Given the description of an element on the screen output the (x, y) to click on. 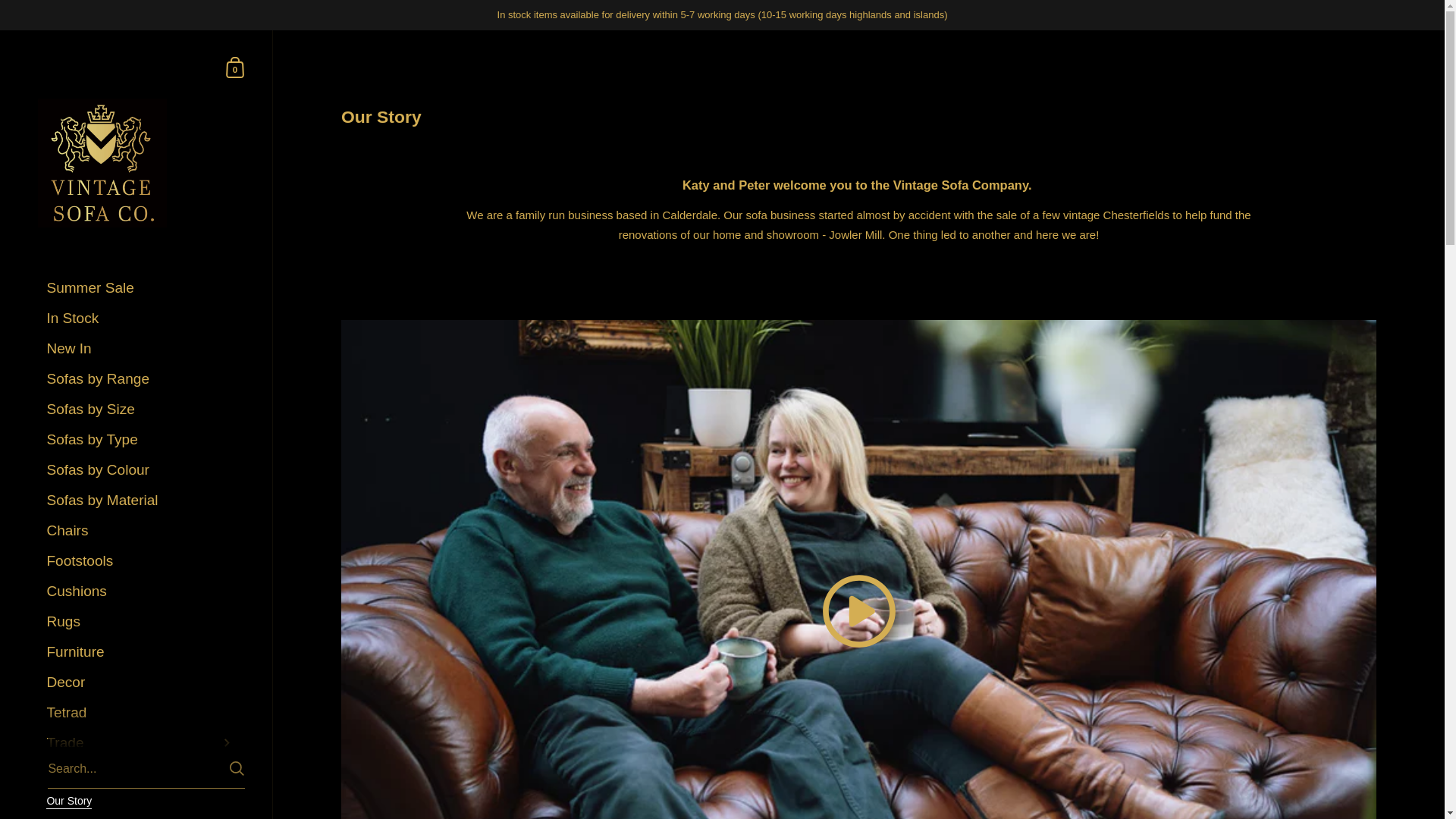
Rugs (141, 621)
Footstools (141, 561)
In Stock (141, 318)
Chairs (141, 530)
Visit our Showroom (141, 816)
Sofas by Colour (141, 470)
Tetrad (141, 712)
Furniture (141, 652)
